Given the description of an element on the screen output the (x, y) to click on. 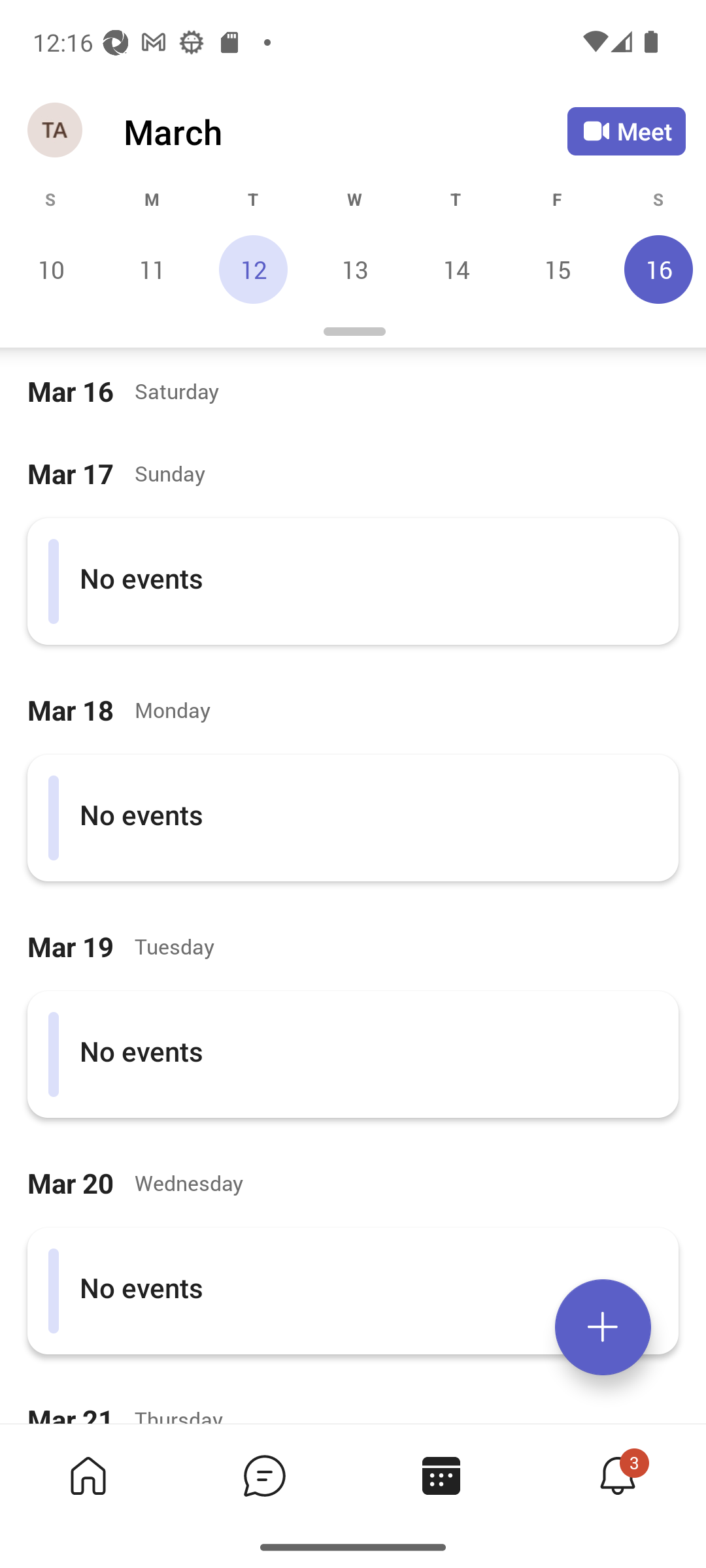
Navigation (56, 130)
Meet Meet now or join with an ID (626, 130)
March March Calendar Agenda View (345, 131)
Sunday, March 10 10 (50, 269)
Monday, March 11 11 (151, 269)
Tuesday, March 12, Today 12 (253, 269)
Wednesday, March 13 13 (354, 269)
Thursday, March 14 14 (455, 269)
Friday, March 15 15 (556, 269)
Saturday, March 16, Selected 16 (656, 269)
Expand meetings menu (602, 1327)
Home tab,1 of 4, not selected (88, 1475)
Chat tab,2 of 4, not selected (264, 1475)
Calendar tab, 3 of 4 (441, 1475)
Activity tab,4 of 4, not selected, 3 new 3 (617, 1475)
